Given the description of an element on the screen output the (x, y) to click on. 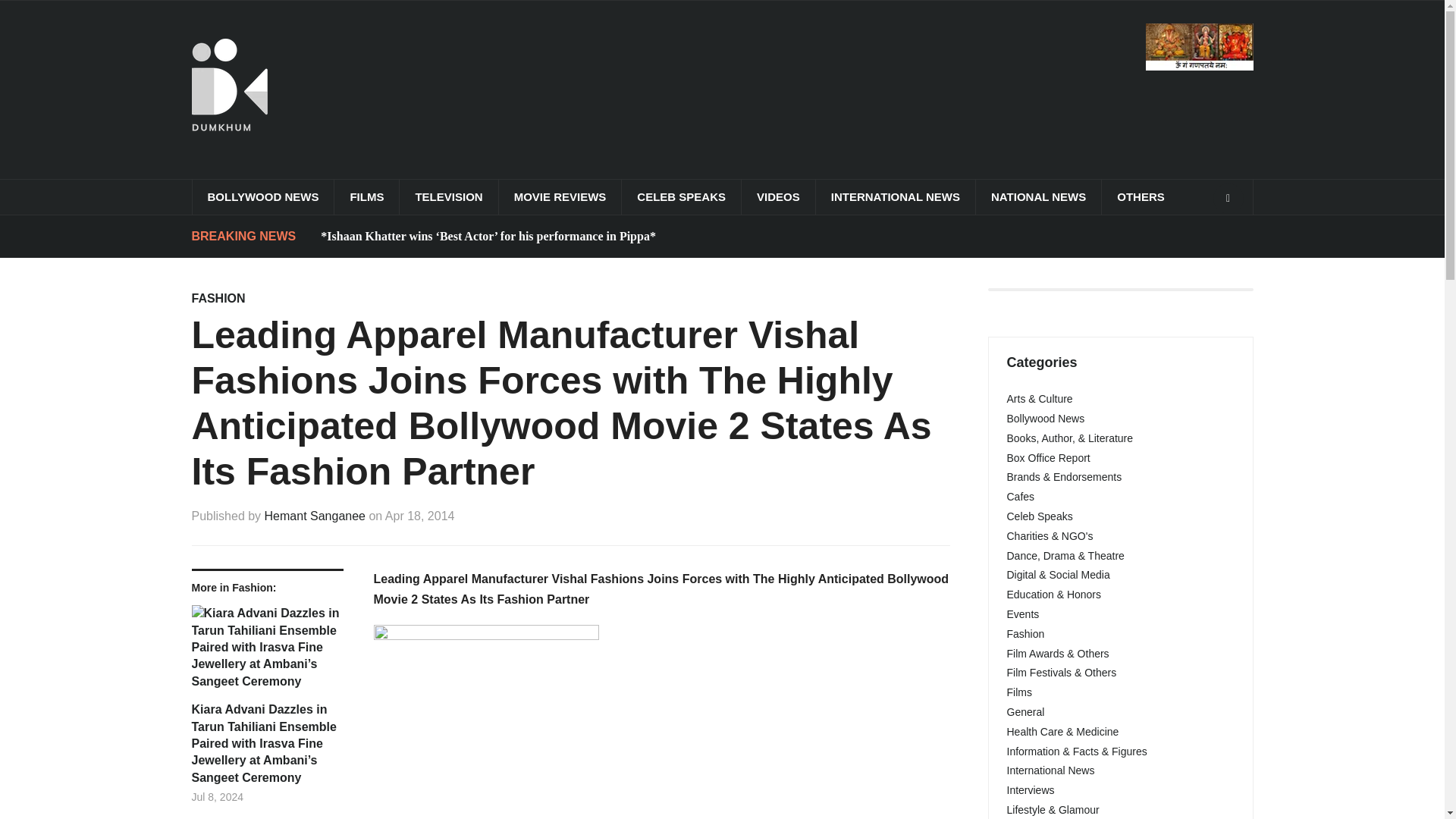
Search (1227, 198)
Posts by Hemant Sanganee (314, 515)
